Given the description of an element on the screen output the (x, y) to click on. 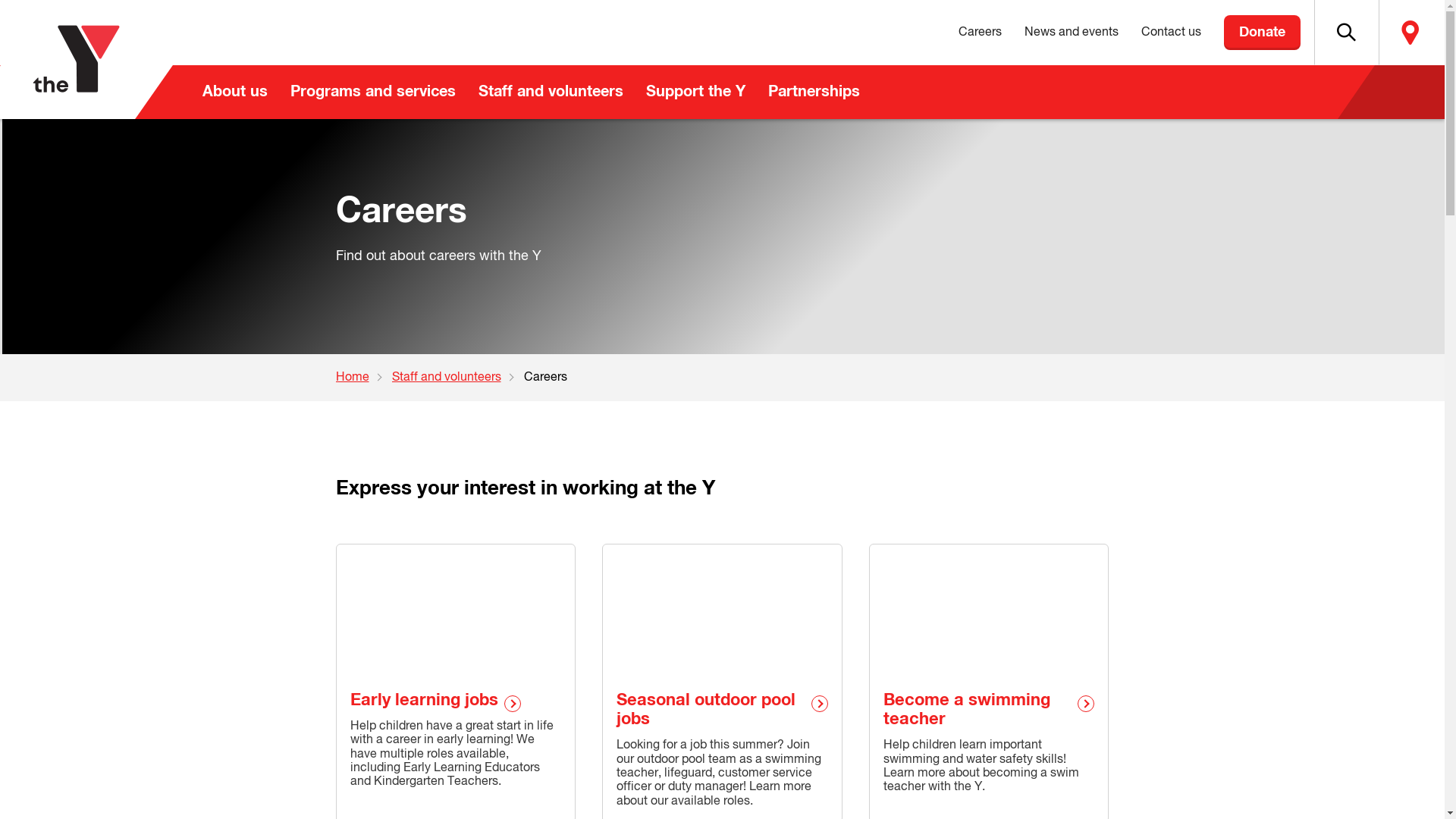
Staff and volunteers Element type: text (457, 377)
Partnerships Element type: text (813, 92)
Staff and volunteers Element type: text (550, 92)
Home Element type: text (363, 377)
Locate Element type: text (1410, 32)
Careers Element type: text (979, 32)
Programs and services Element type: text (373, 92)
Support the Y Element type: text (694, 92)
Donate Element type: text (1261, 32)
About us Element type: text (235, 92)
News and events Element type: text (1071, 32)
Contact us Element type: text (1170, 32)
